Given the description of an element on the screen output the (x, y) to click on. 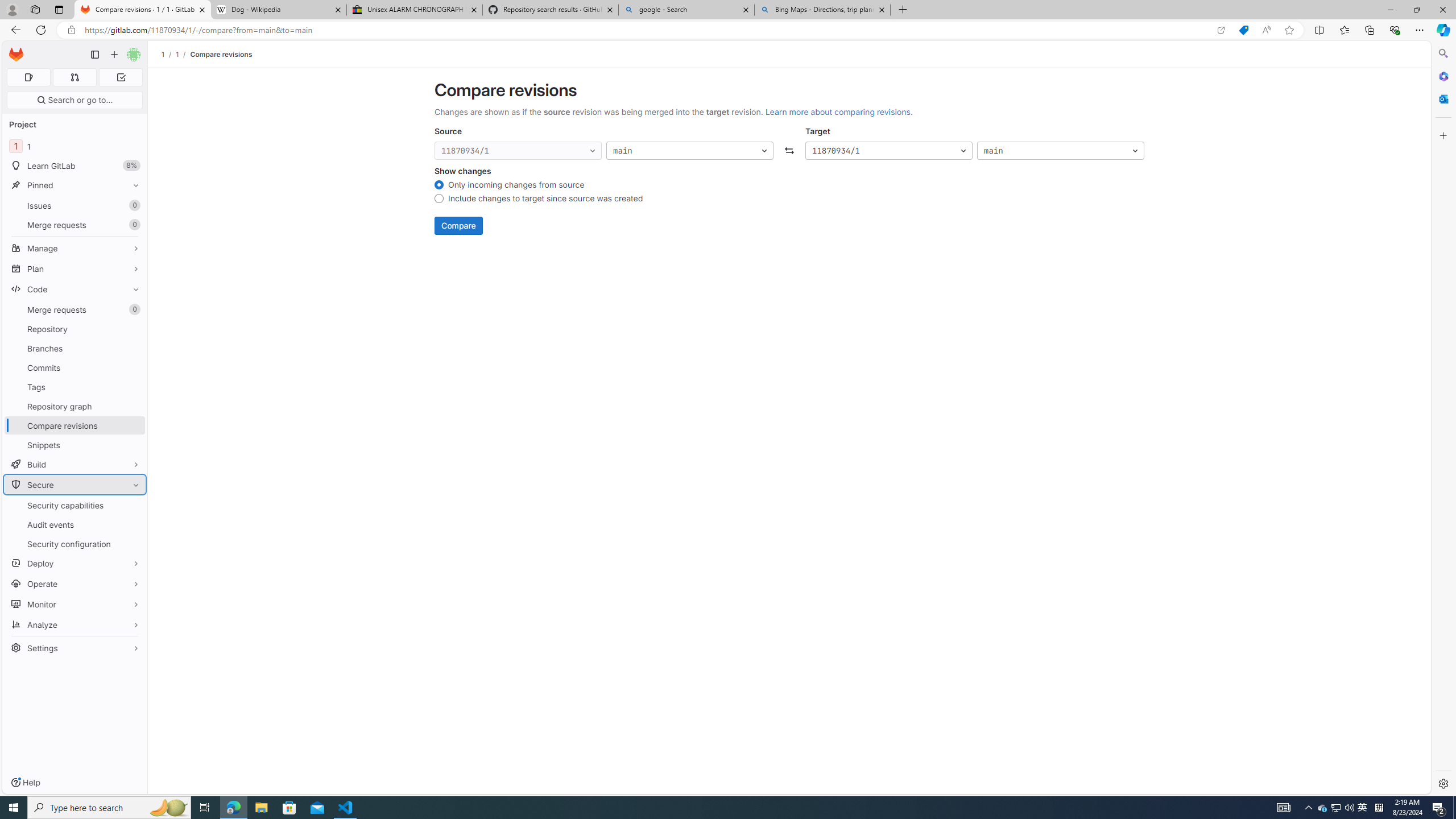
Branches (74, 348)
main (1060, 150)
Primary navigation sidebar (94, 54)
Issues0 (74, 205)
Build (74, 464)
Swap (788, 150)
